Given the description of an element on the screen output the (x, y) to click on. 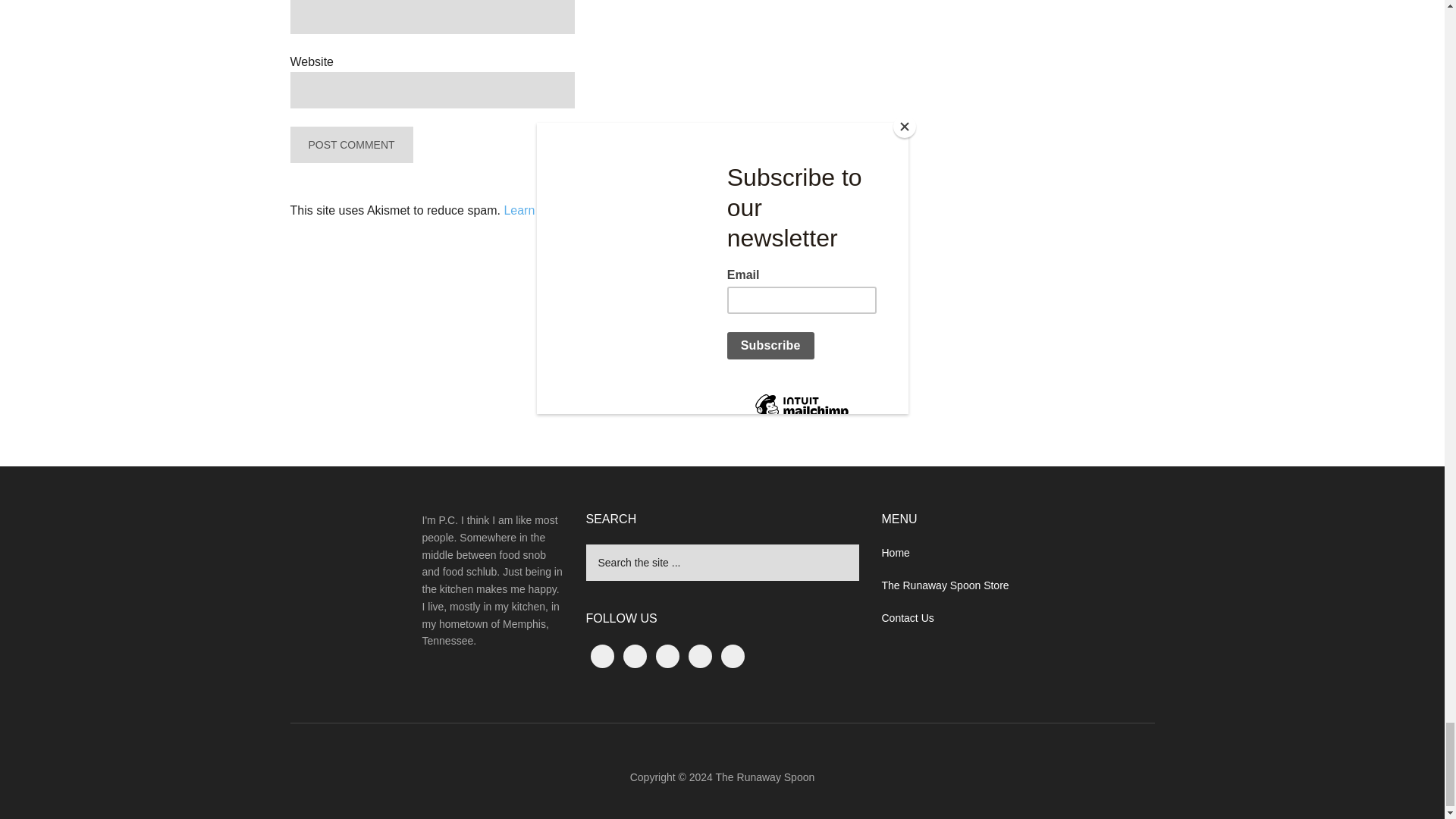
Post Comment (350, 144)
